Given the description of an element on the screen output the (x, y) to click on. 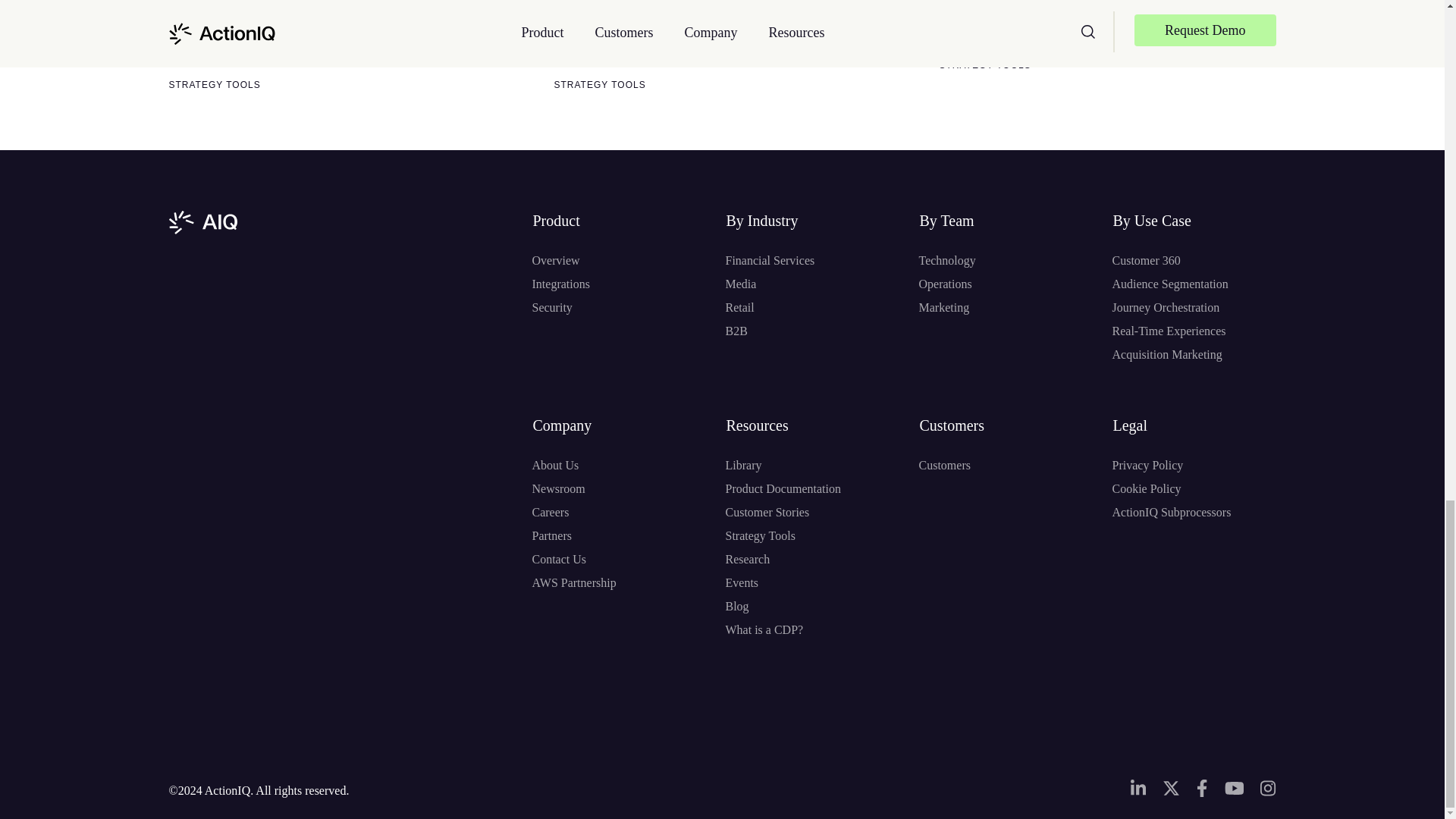
How to Build a Business Case for a Composable CDP: Live! (260, 33)
How to Build a Business Case for a Composable CDP (1103, 23)
